Given the description of an element on the screen output the (x, y) to click on. 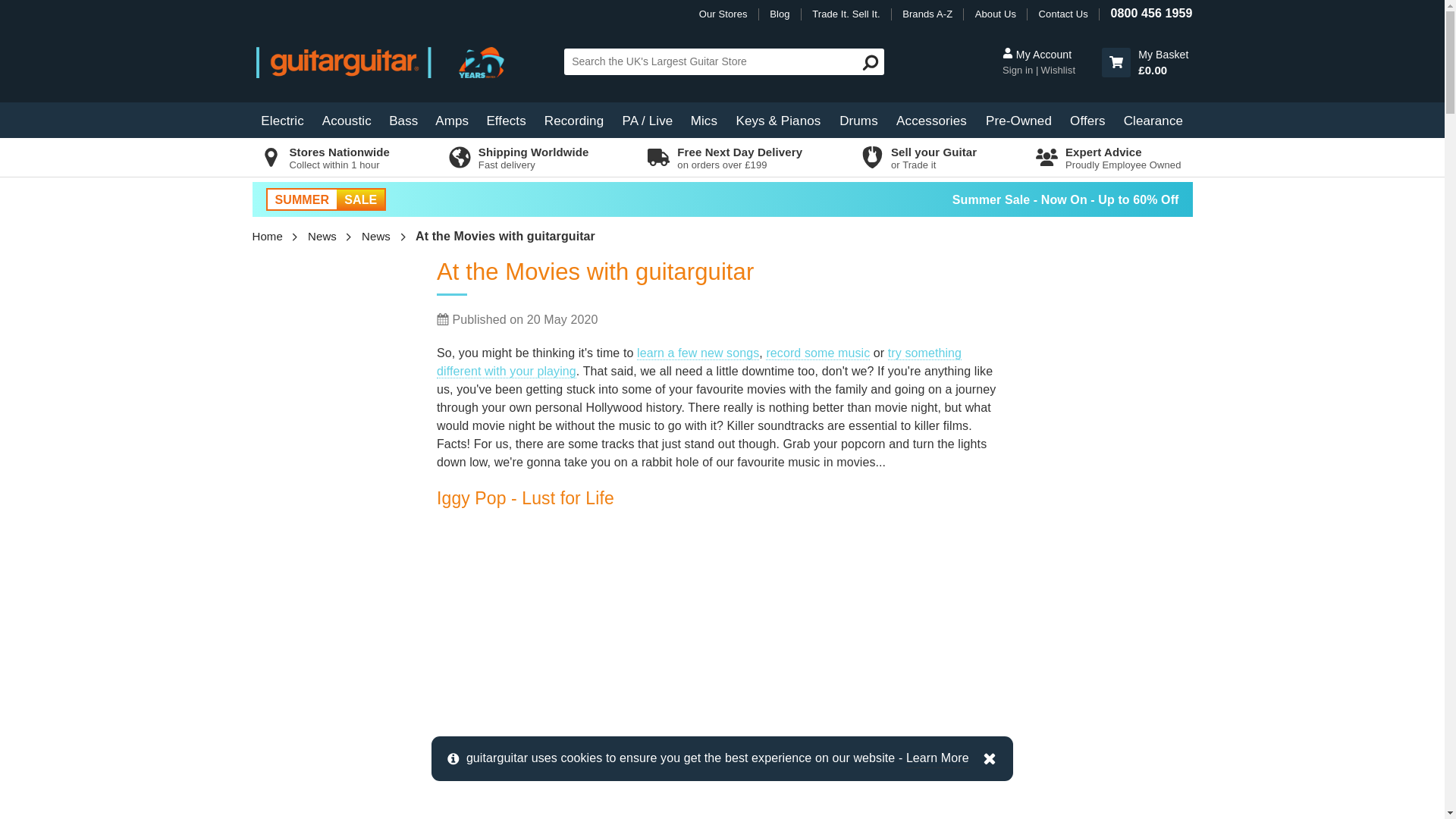
guitarguitar (390, 61)
Electric (282, 120)
0800 456 1959 (1150, 12)
About Us (995, 13)
0800 456 1959 (1150, 12)
About Us (995, 13)
Electric Guitars (282, 120)
My Account (1019, 70)
Brands A-Z (927, 13)
Contact Us (1063, 13)
